Given the description of an element on the screen output the (x, y) to click on. 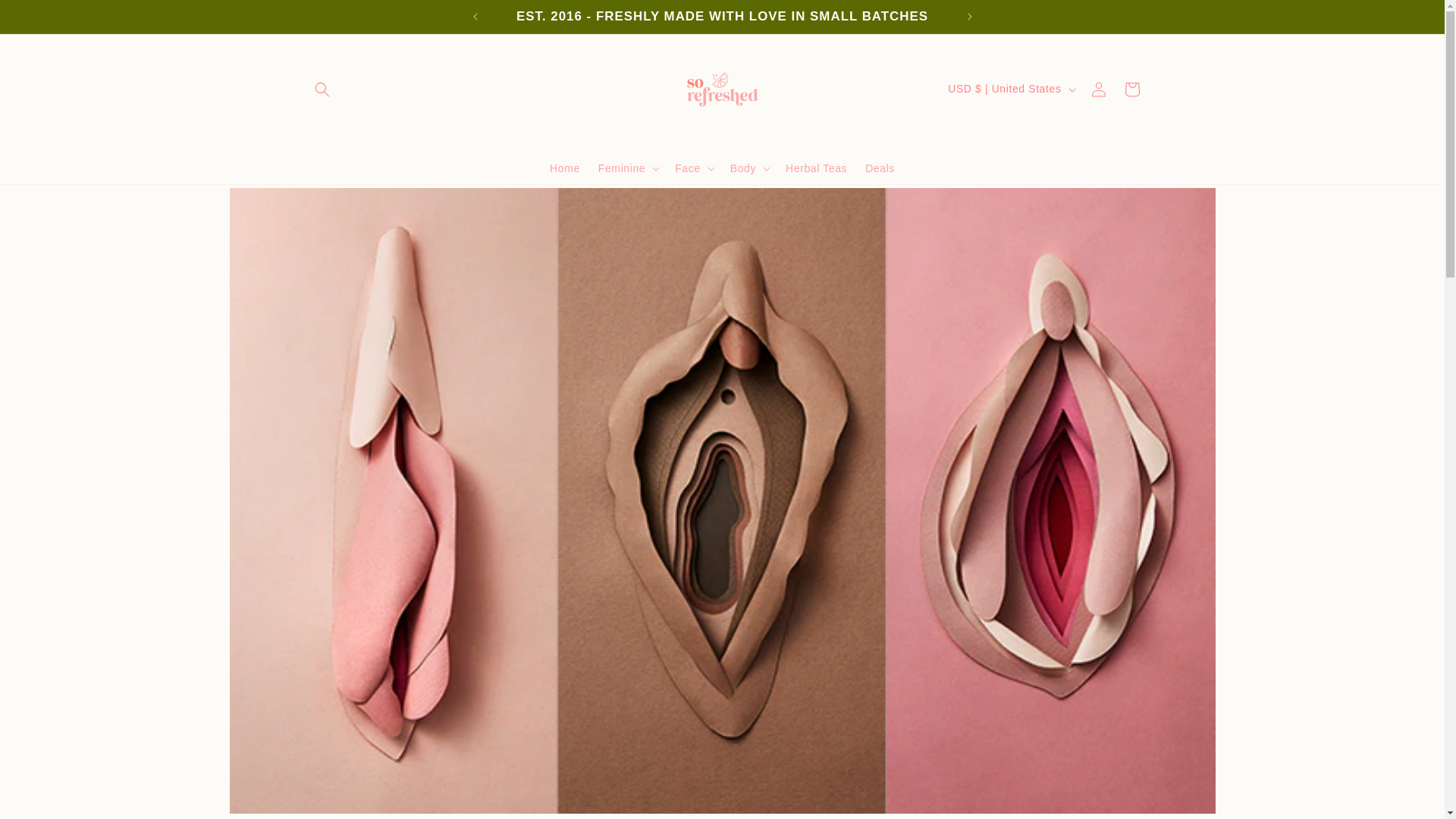
Skip to content (45, 17)
Home (564, 167)
